Given the description of an element on the screen output the (x, y) to click on. 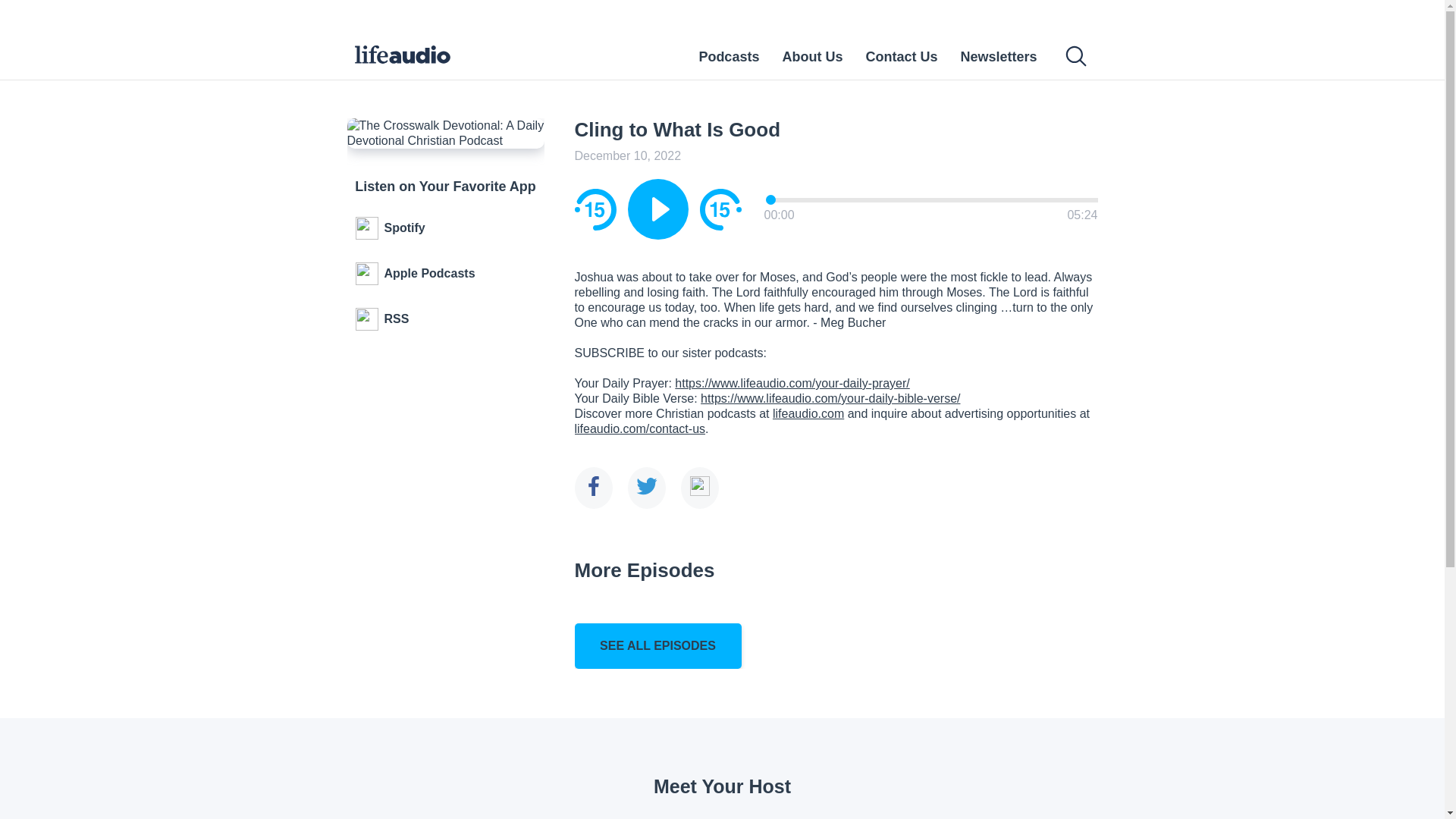
SEE ALL EPISODES (658, 646)
Podcasts (728, 56)
RSS feed (445, 319)
Apple Podcasts (445, 273)
Newsletters (997, 56)
RSS (445, 319)
Spotify (445, 228)
Contact Us (900, 56)
About Us (812, 56)
lifeaudio.com (808, 413)
0.01 (932, 199)
